Given the description of an element on the screen output the (x, y) to click on. 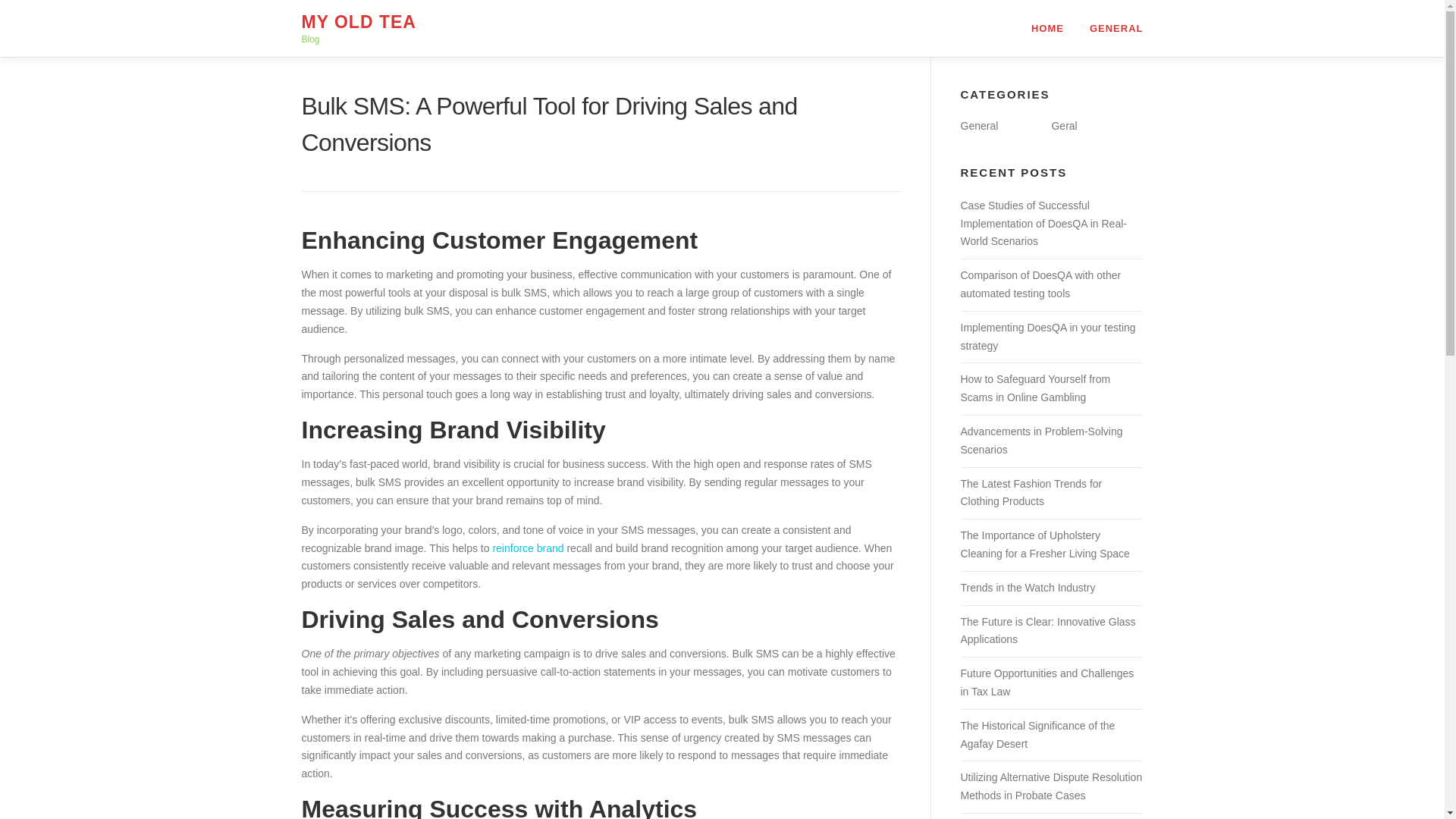
The Latest Fashion Trends for Clothing Products (1030, 492)
The Future is Clear: Innovative Glass Applications (1047, 630)
Advancements in Problem-Solving Scenarios (1040, 440)
MY OLD TEA (358, 21)
Geral (1064, 125)
reinforce brand (527, 548)
Comparison of DoesQA with other automated testing tools (1040, 284)
Trends in the Watch Industry (1026, 587)
HOME (1047, 28)
The Historical Significance of the Agafay Desert (1037, 734)
